Given the description of an element on the screen output the (x, y) to click on. 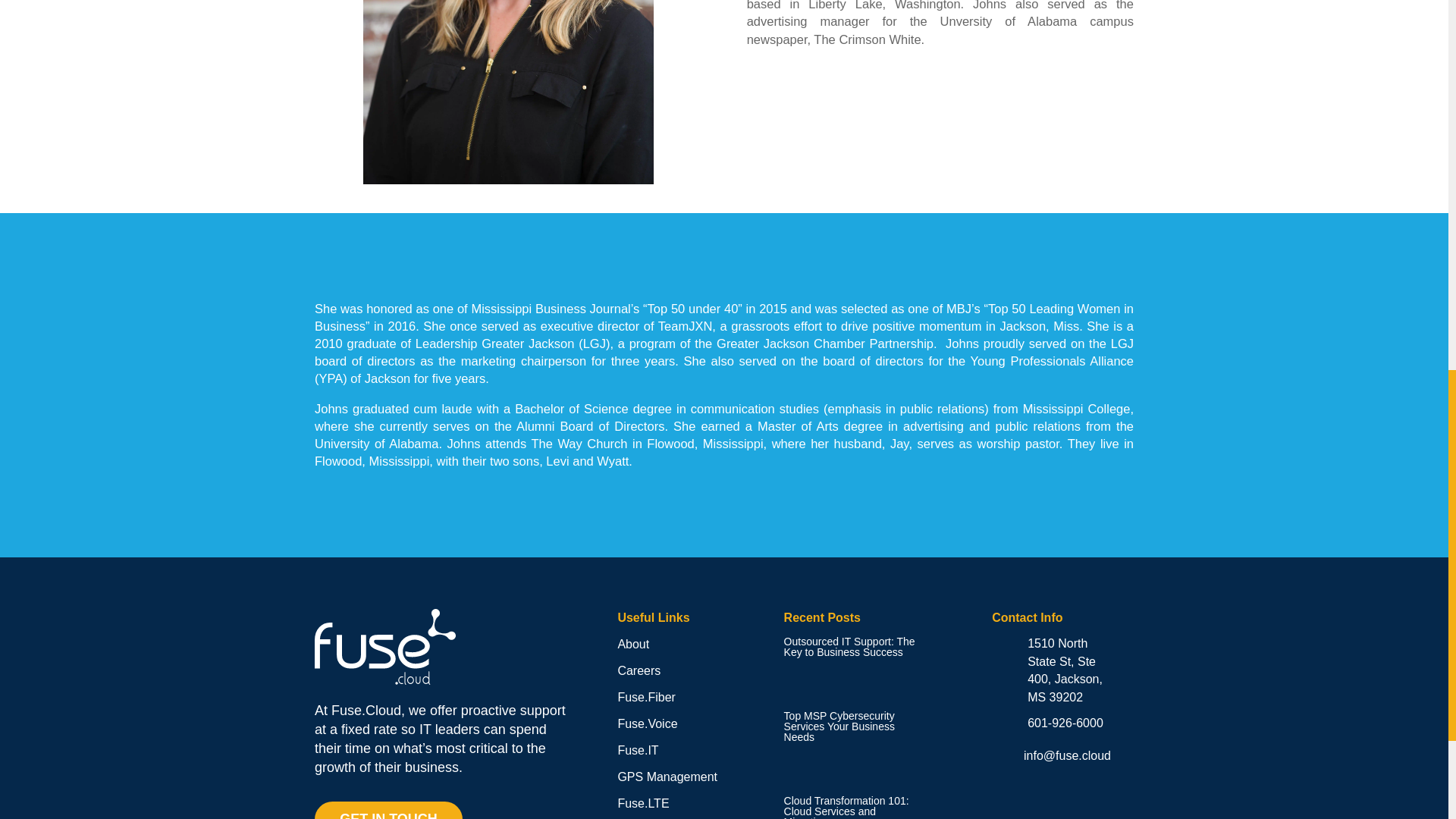
Laura Johns (507, 92)
